Given the description of an element on the screen output the (x, y) to click on. 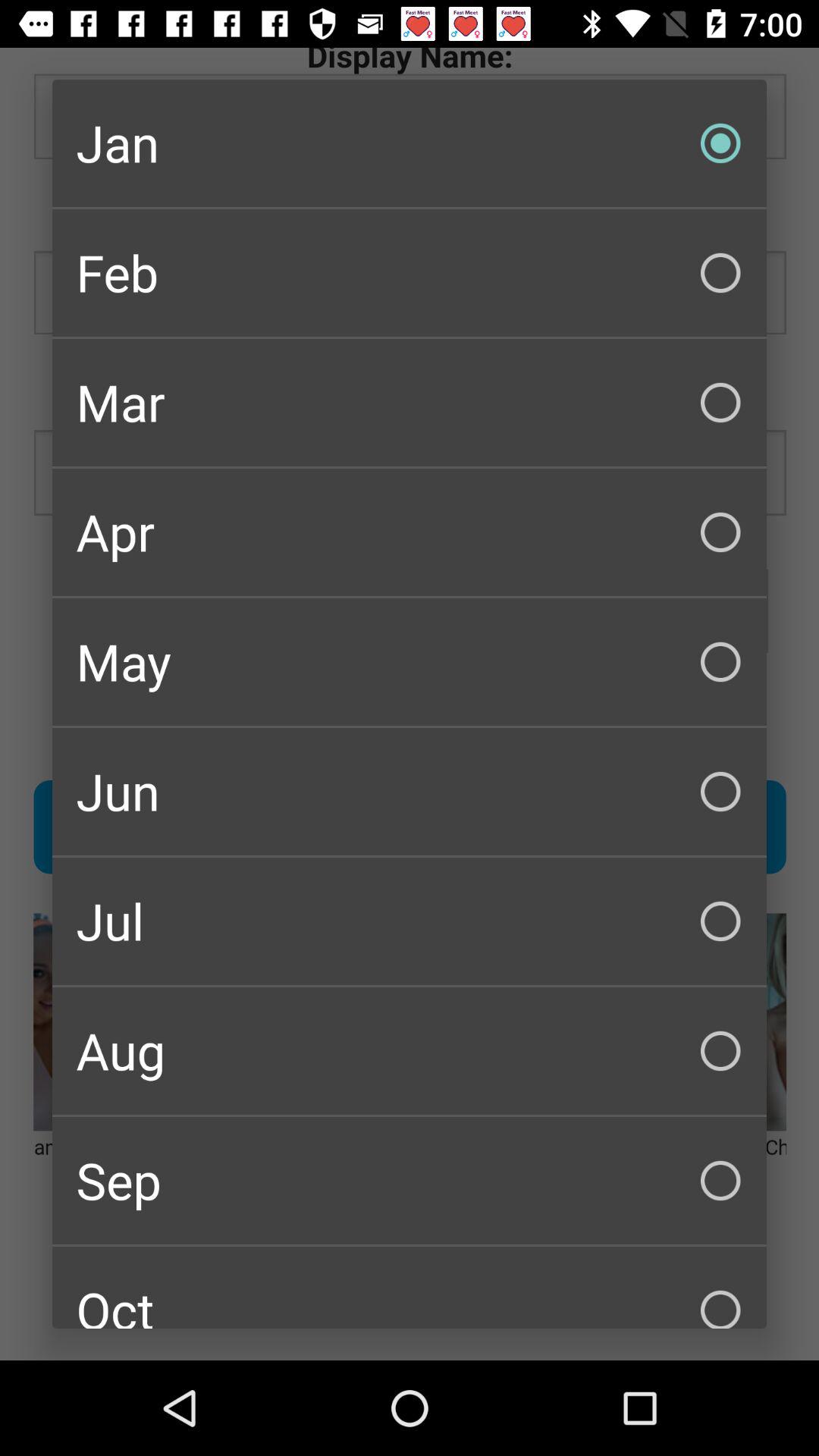
turn off apr (409, 532)
